Given the description of an element on the screen output the (x, y) to click on. 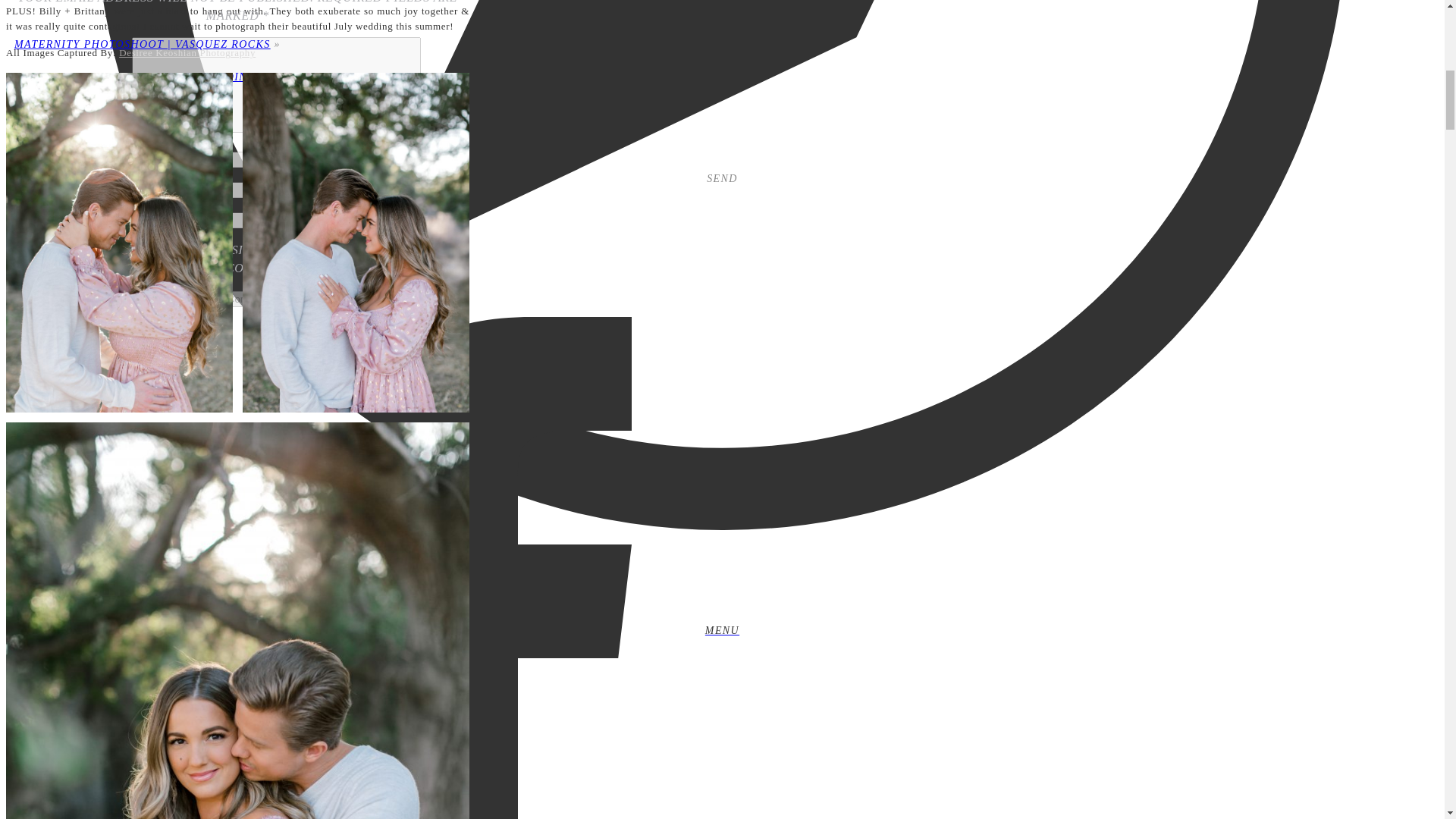
Desiree Keoshian Photography (187, 52)
Post Comment (237, 299)
yes (21, 248)
Post Comment (237, 299)
